Given the description of an element on the screen output the (x, y) to click on. 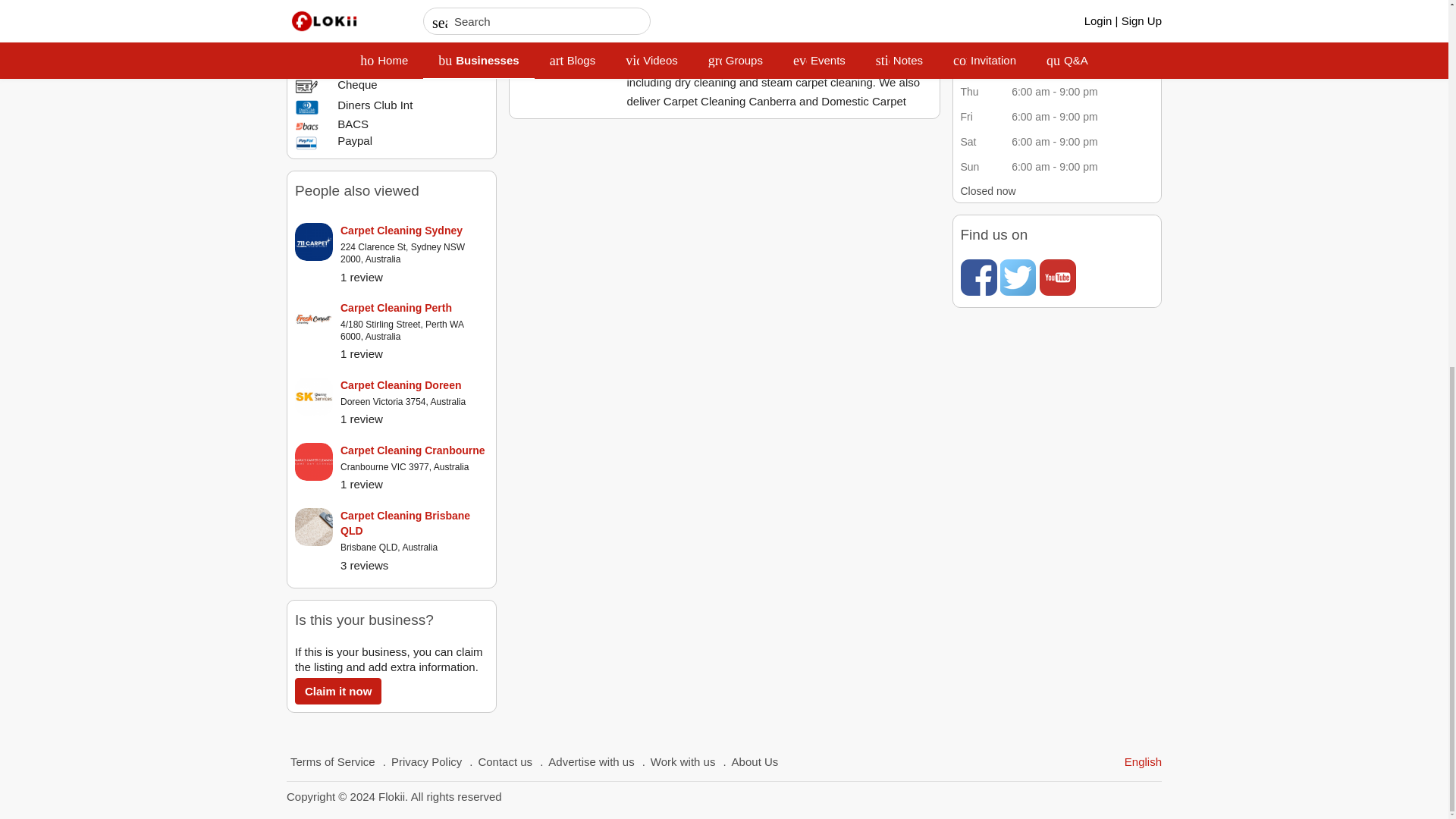
Carpet Cleaning Sydney (413, 230)
American Express (306, 1)
Carpet Cleaning Brisbane QLD (413, 522)
Visa Electron (306, 15)
Carpet Cleaning Perth (413, 307)
Carpet Cleaning Doreen (413, 385)
Carpet Cleaning Cranbourne (413, 450)
